Given the description of an element on the screen output the (x, y) to click on. 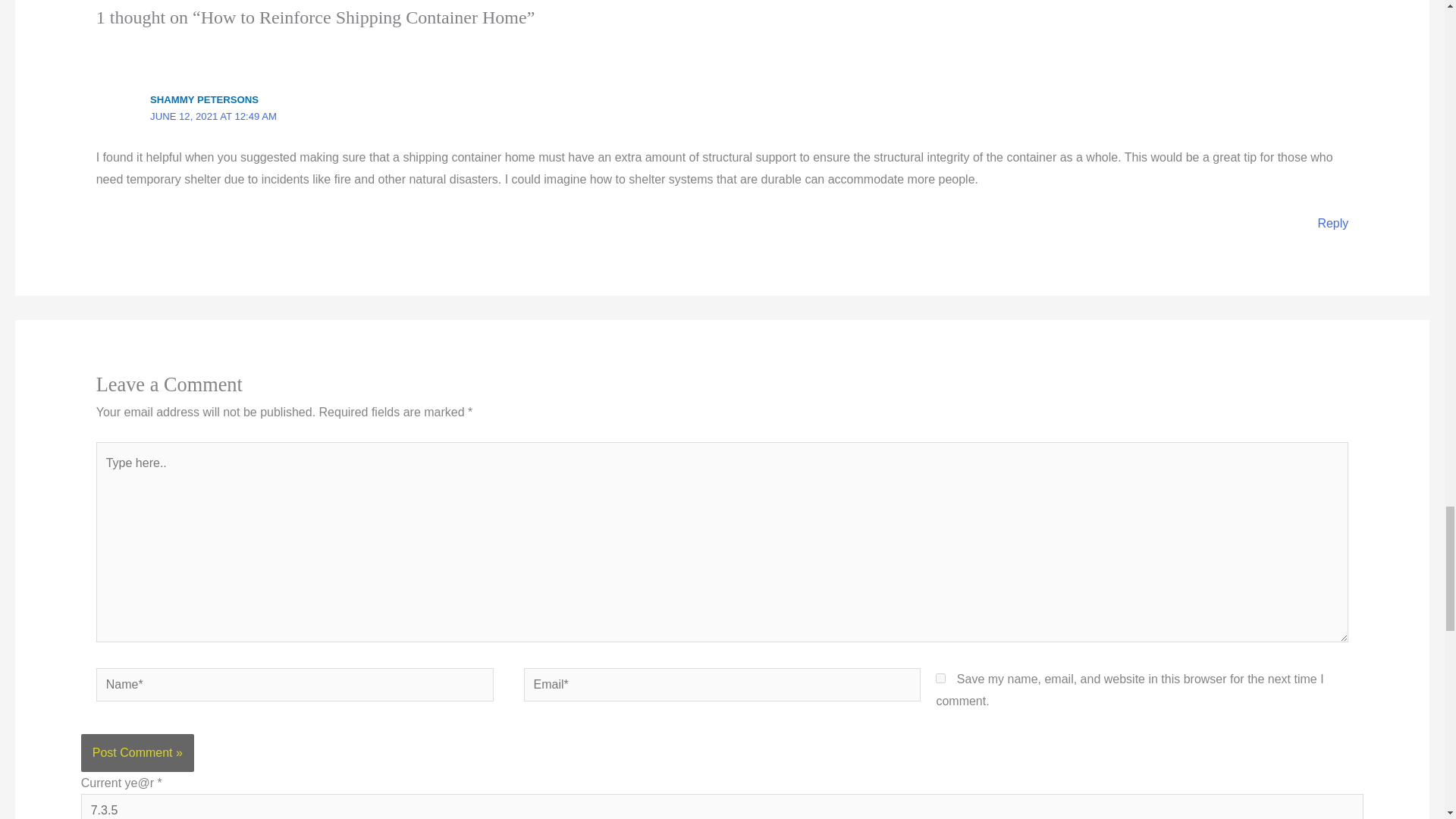
JUNE 12, 2021 AT 12:49 AM (212, 116)
7.3.5 (722, 806)
yes (940, 678)
Reply (1332, 223)
